Given the description of an element on the screen output the (x, y) to click on. 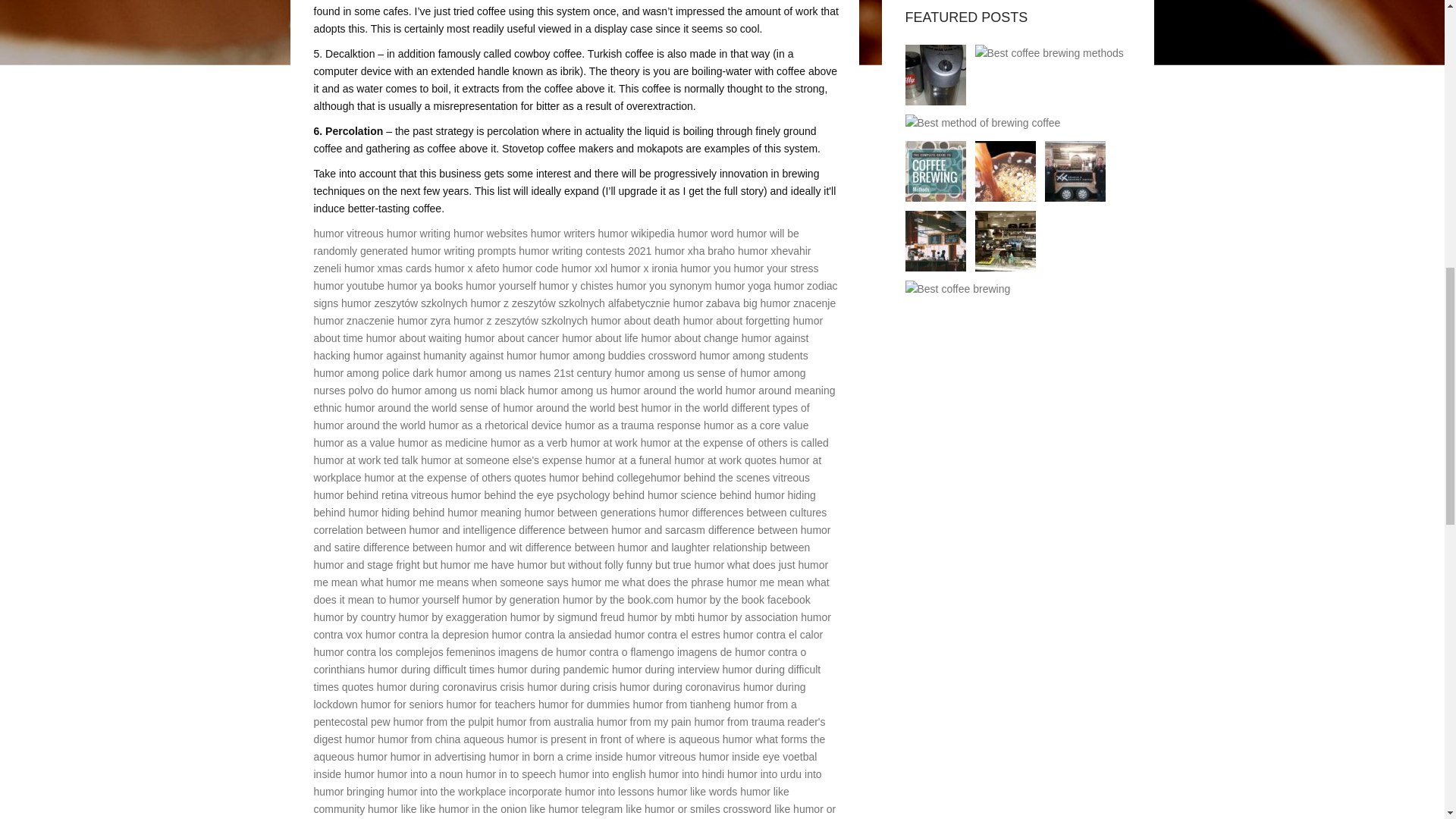
humor xxl (583, 268)
Different methods of brewing coffee (1005, 170)
Different ways of brewing coffee (1075, 170)
Coffee brewing methods (935, 75)
humor word (705, 233)
humor will be randomly generated (556, 242)
humor wikipedia (636, 233)
humor xha braho (694, 250)
humor you (705, 268)
humor youtube (349, 285)
humor x afeto (466, 268)
New coffee brewing methods (935, 170)
humor writers (563, 233)
humor your stress (775, 268)
humor websites (489, 233)
